Given the description of an element on the screen output the (x, y) to click on. 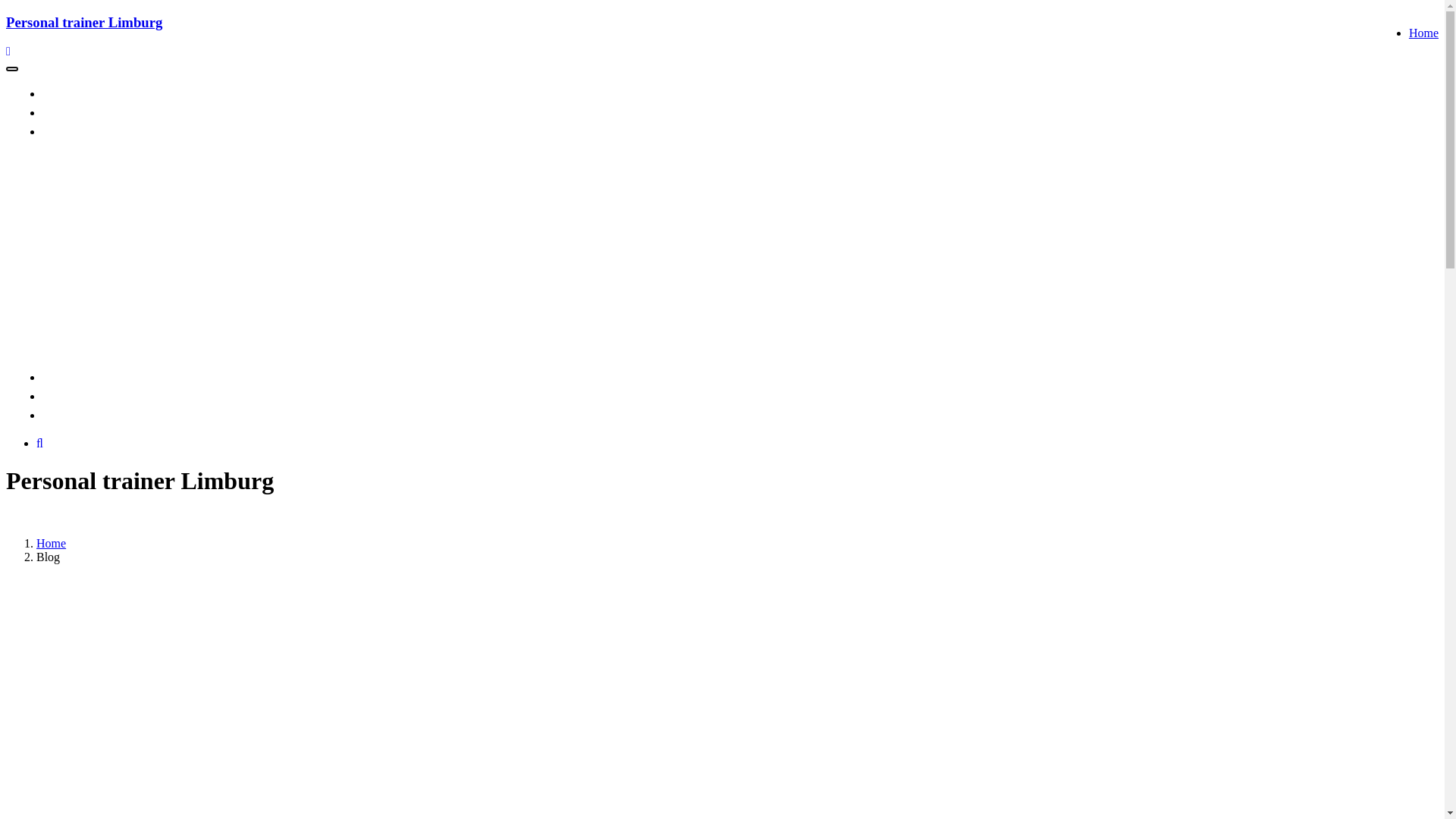
Toggle navigation Element type: text (12, 68)
CONTACT Element type: text (78, 395)
HOME Element type: text (68, 93)
Home Element type: text (1423, 32)
LINKS Element type: text (68, 131)
Home Element type: text (50, 542)
OPLEIDING VOLGEN Element type: text (106, 376)
Skip to content Element type: text (5, 13)
Personal trainer Limburg Element type: text (84, 22)
BLOG Element type: text (66, 414)
search_icon Element type: hover (39, 442)
TIPS Element type: text (64, 112)
